Given the description of an element on the screen output the (x, y) to click on. 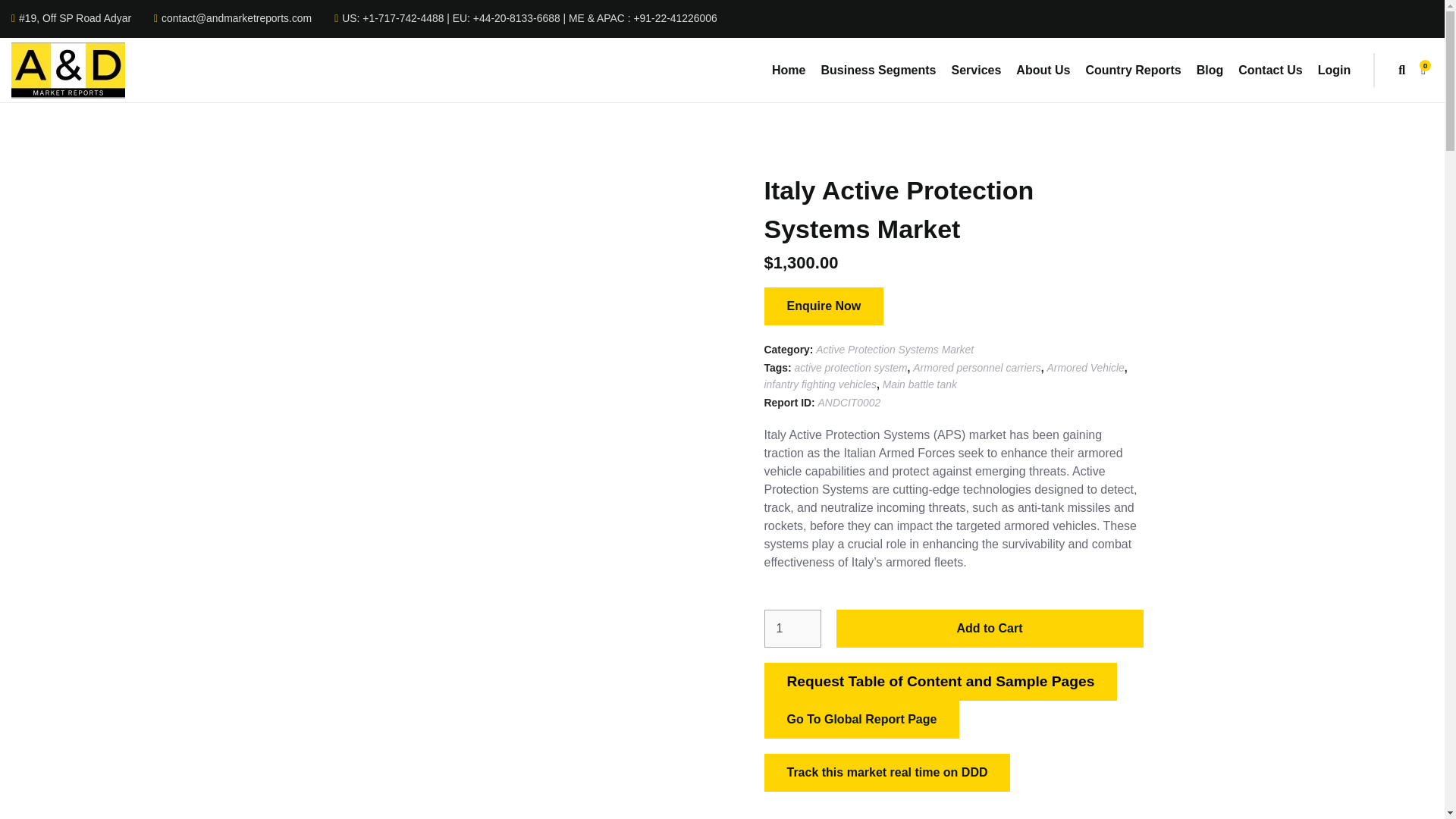
Main battle tank (919, 384)
Aviation and Defense Market Reports (68, 70)
Armored personnel carriers (976, 368)
Qty (792, 628)
Request Table of Content and Sample Pages (941, 681)
Enquire Now (823, 306)
Armored Vehicle (1085, 368)
Add to Cart (988, 628)
Track this market real time on DDD (887, 772)
infantry fighting vehicles (820, 384)
